Given the description of an element on the screen output the (x, y) to click on. 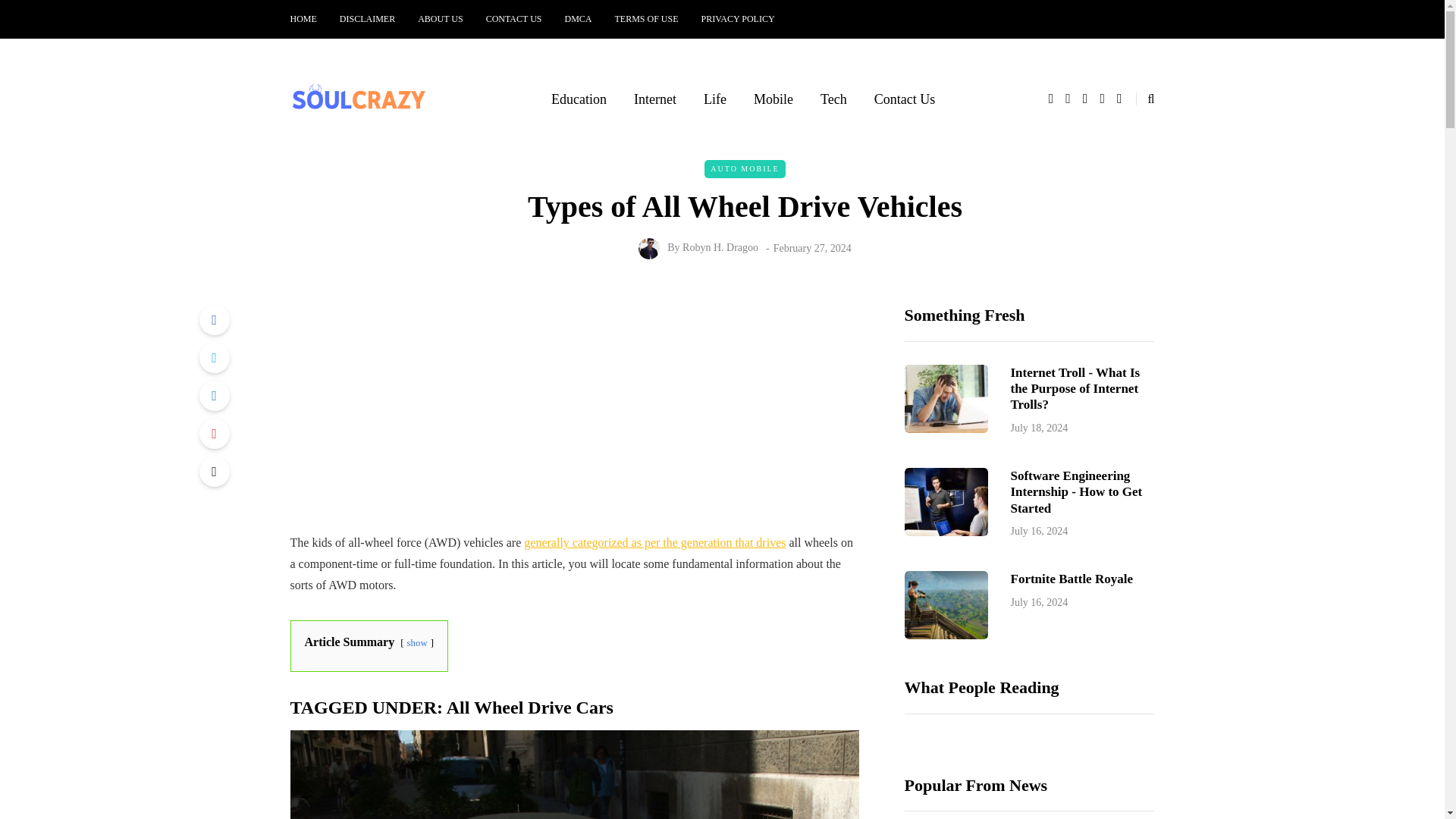
Share with LinkedIn (213, 395)
Share with Facebook (213, 319)
Posts by Robyn H. Dragoo (720, 247)
HOME (308, 19)
Types of All Wheel Drive Vehicles 1 (574, 774)
Tweet this (213, 358)
Advertisement (574, 418)
DMCA (577, 19)
Internet (655, 98)
Share by Email (213, 471)
PRIVACY POLICY (738, 19)
Life (714, 98)
Mobile (772, 98)
CONTACT US (513, 19)
ABOUT US (440, 19)
